Given the description of an element on the screen output the (x, y) to click on. 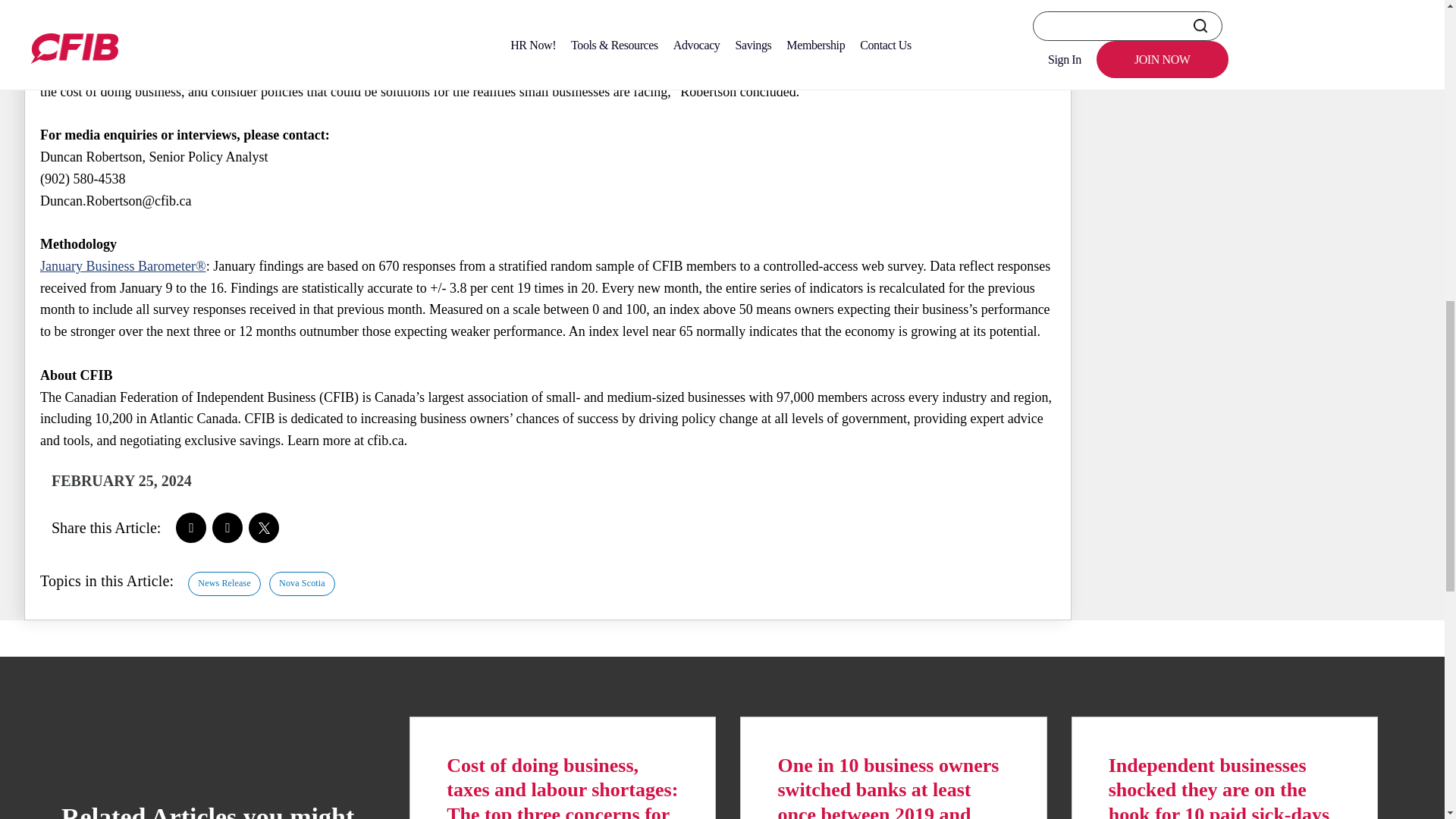
Share on LinkedIn (227, 527)
Share on LinkedIn (227, 527)
News Release (223, 583)
Nova Scotia (301, 583)
Share on Twitter (263, 527)
Share on Twitter (263, 527)
Share on Facebook (191, 527)
Share on Facebook (191, 527)
